Given the description of an element on the screen output the (x, y) to click on. 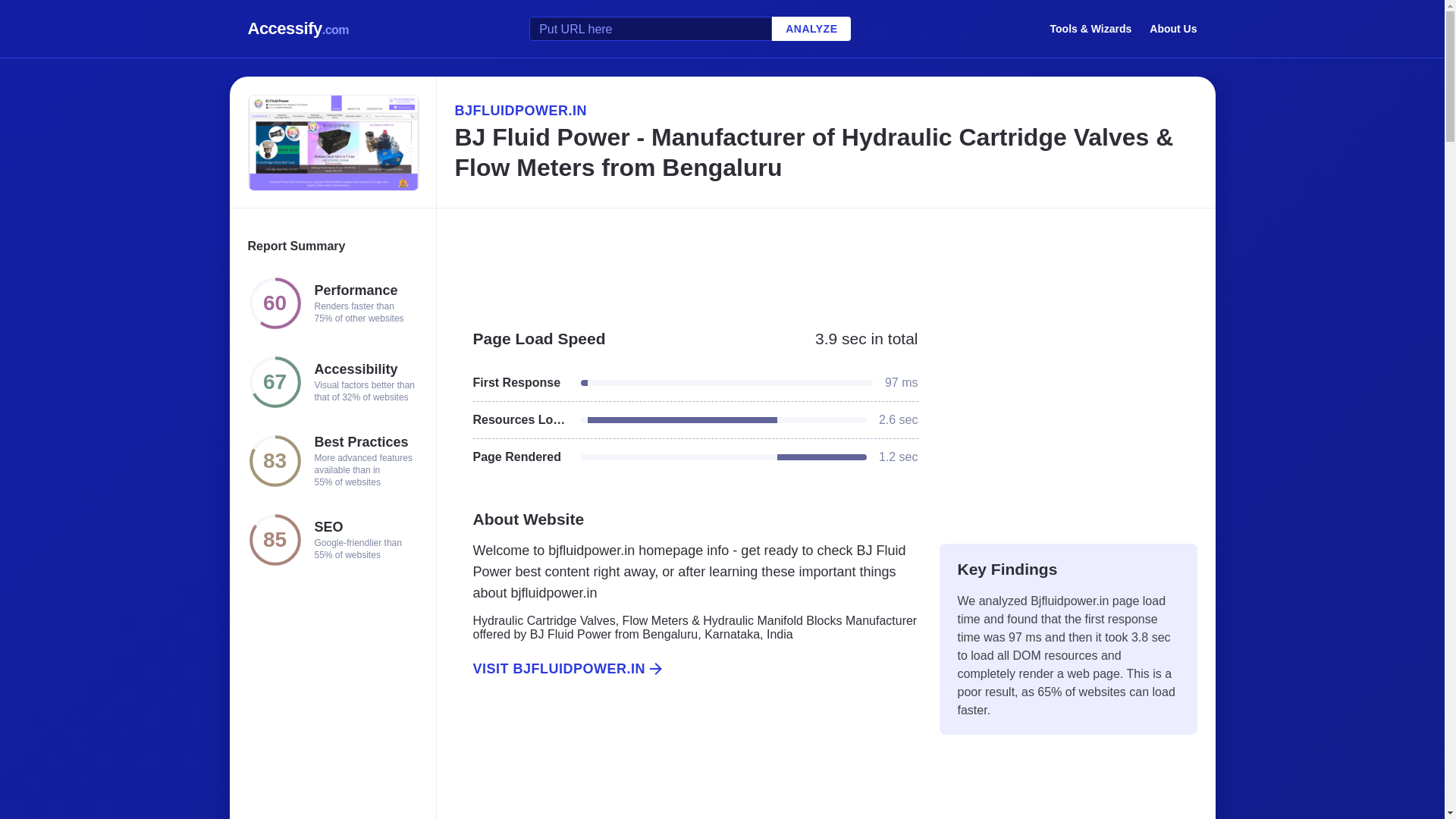
Advertisement (825, 260)
BJFLUIDPOWER.IN (825, 110)
Advertisement (1067, 418)
VISIT BJFLUIDPOWER.IN (686, 669)
About Us (1173, 28)
ANALYZE (810, 28)
Accessify.com (298, 28)
Advertisement (686, 765)
